Given the description of an element on the screen output the (x, y) to click on. 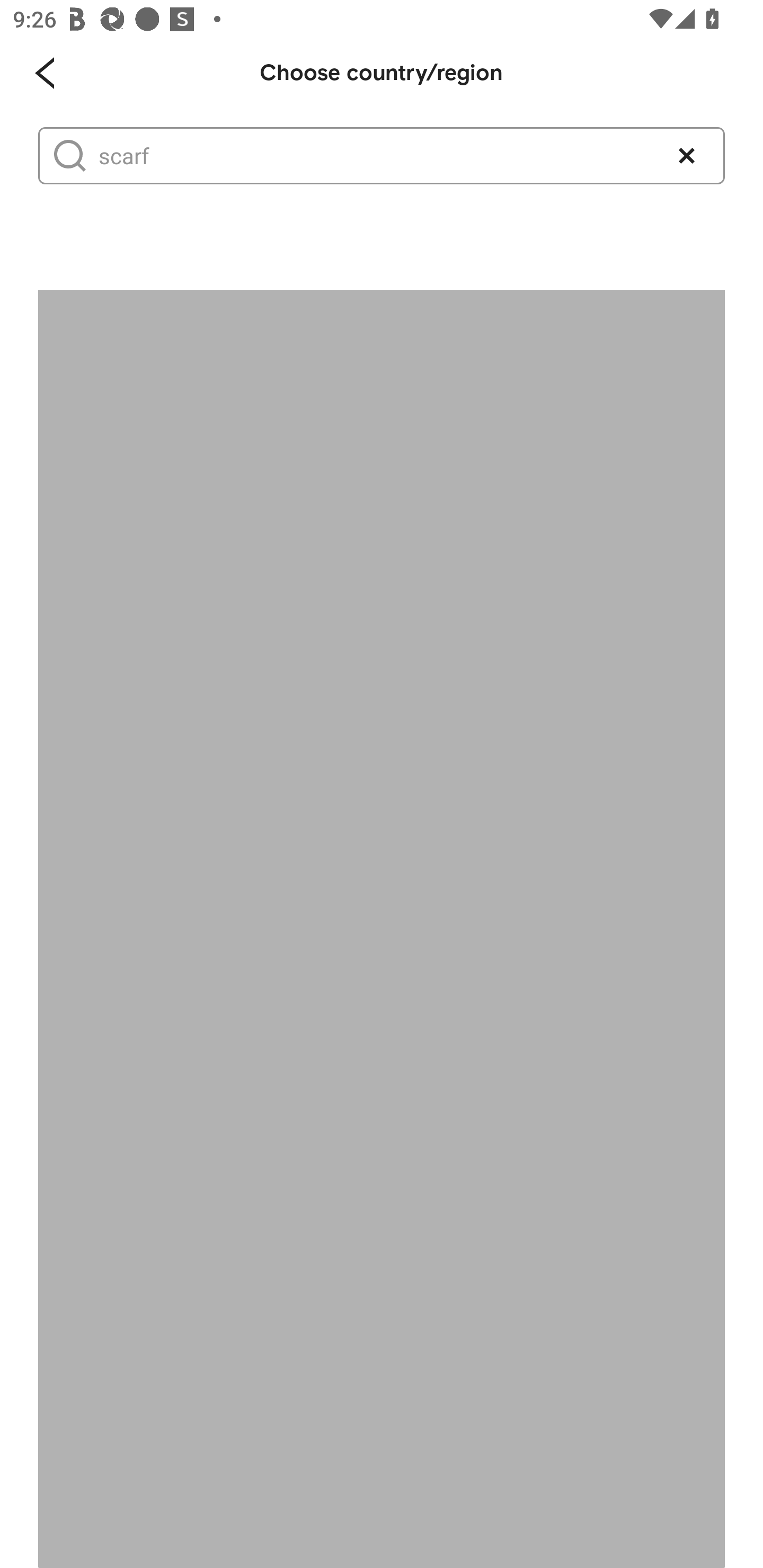
scarf (373, 155)
